Given the description of an element on the screen output the (x, y) to click on. 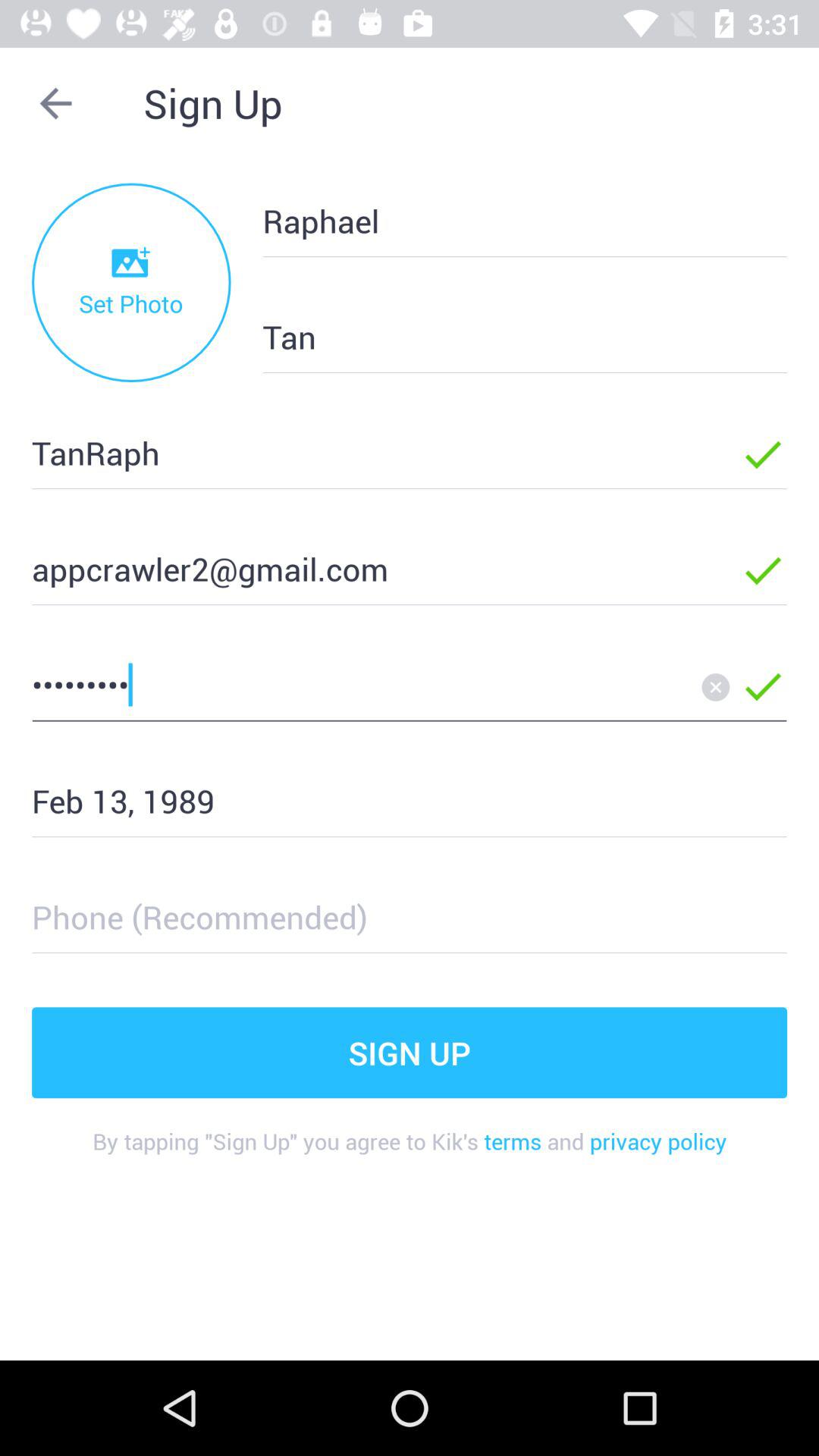
scroll to raphael icon (500, 220)
